Given the description of an element on the screen output the (x, y) to click on. 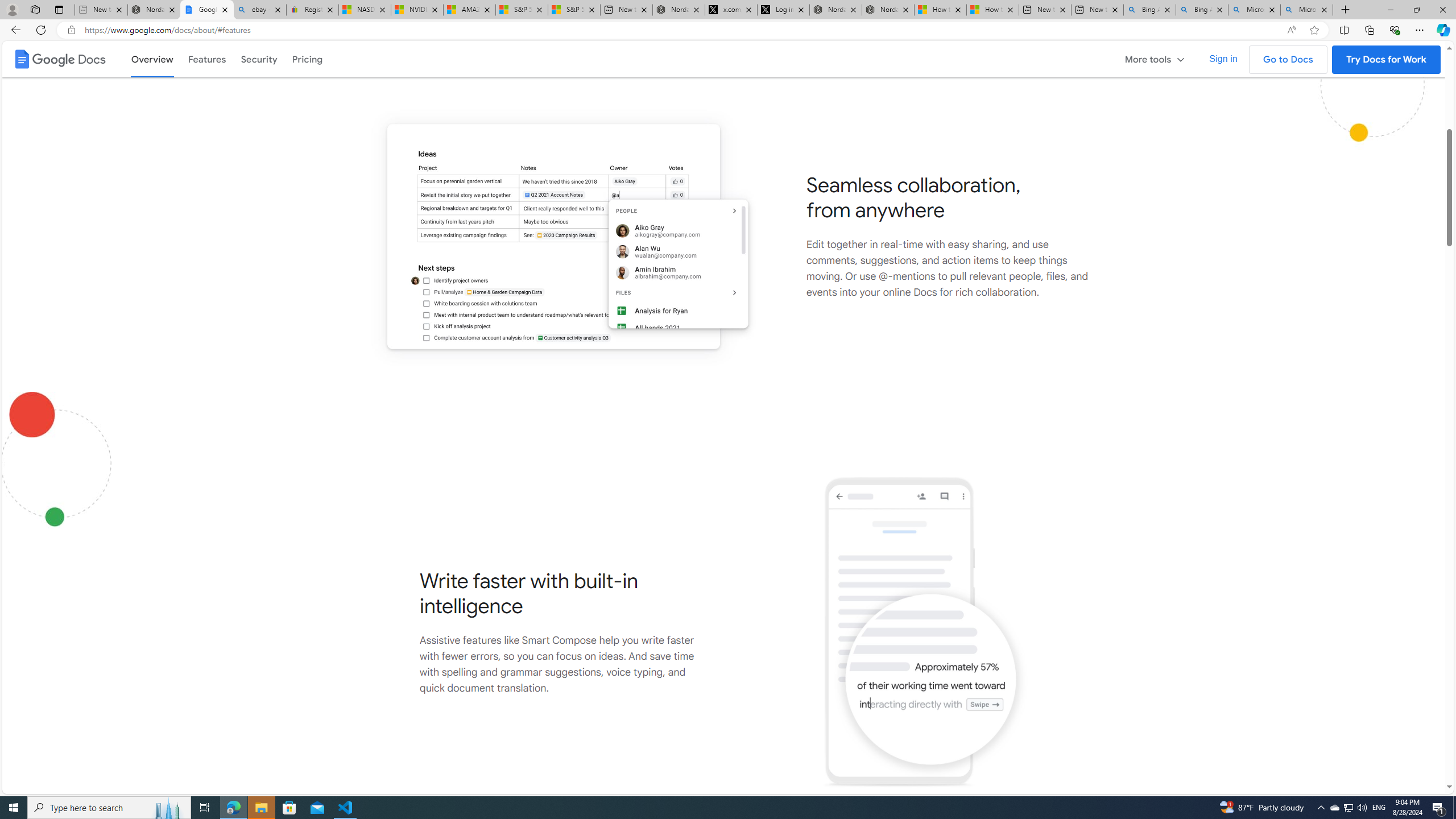
Docs write faster (924, 631)
New tab - Sleeping (100, 9)
See what you can do with Google Docs (723, 37)
Docs Supercharge Teamwork (562, 236)
Bing AI - Search (1201, 9)
App bar (728, 29)
